Given the description of an element on the screen output the (x, y) to click on. 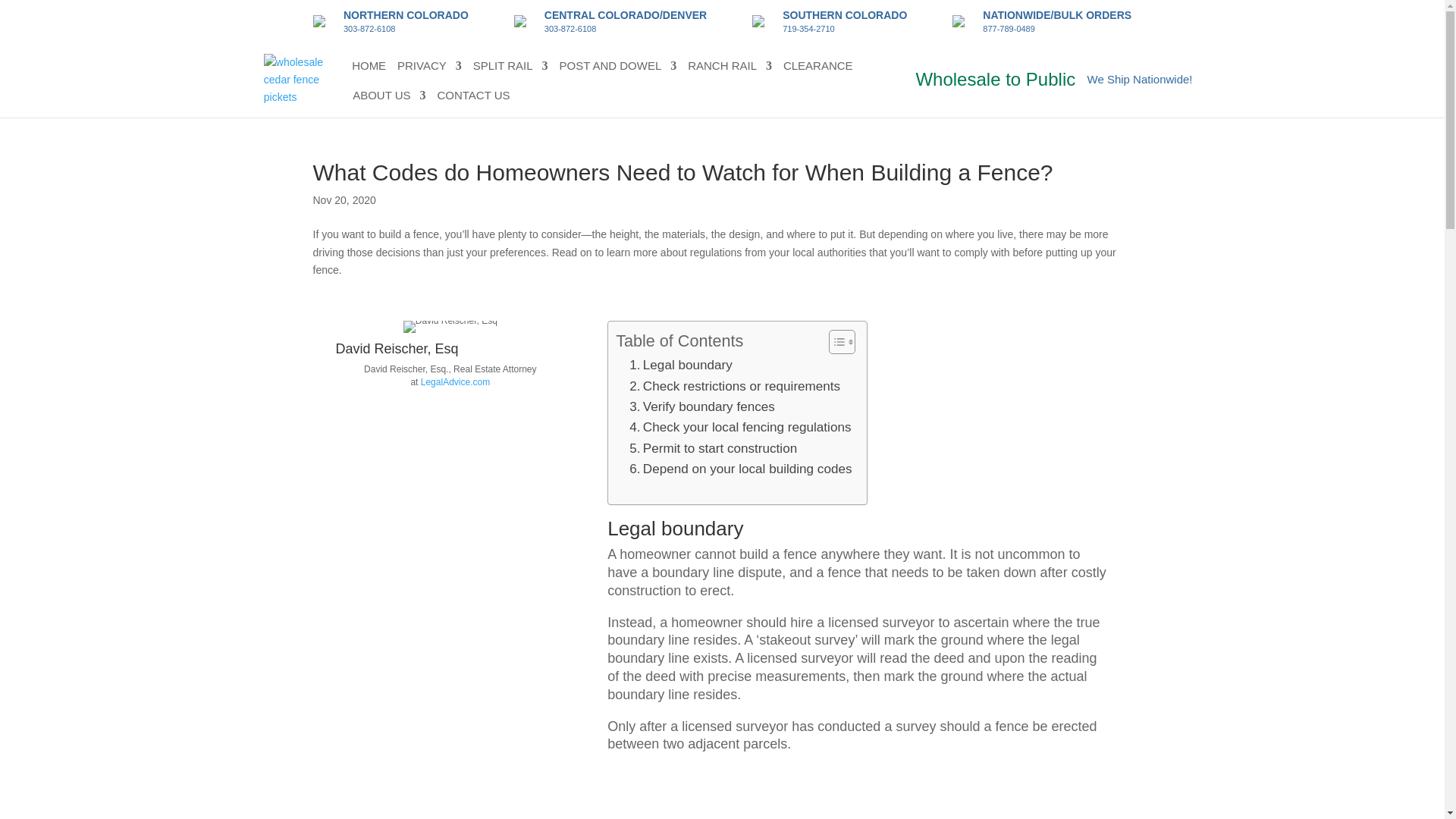
SOUTHERN COLORADO (845, 14)
Split rail fence (510, 69)
POST AND DOWEL (618, 69)
Depend on your local building codes (739, 468)
Permit to start construction (712, 448)
Cedar privacy fence (429, 69)
Legal boundary  (680, 364)
CLEARANCE (818, 69)
Check restrictions or requirements (734, 385)
Ranch rail fencing (729, 69)
